Given the description of an element on the screen output the (x, y) to click on. 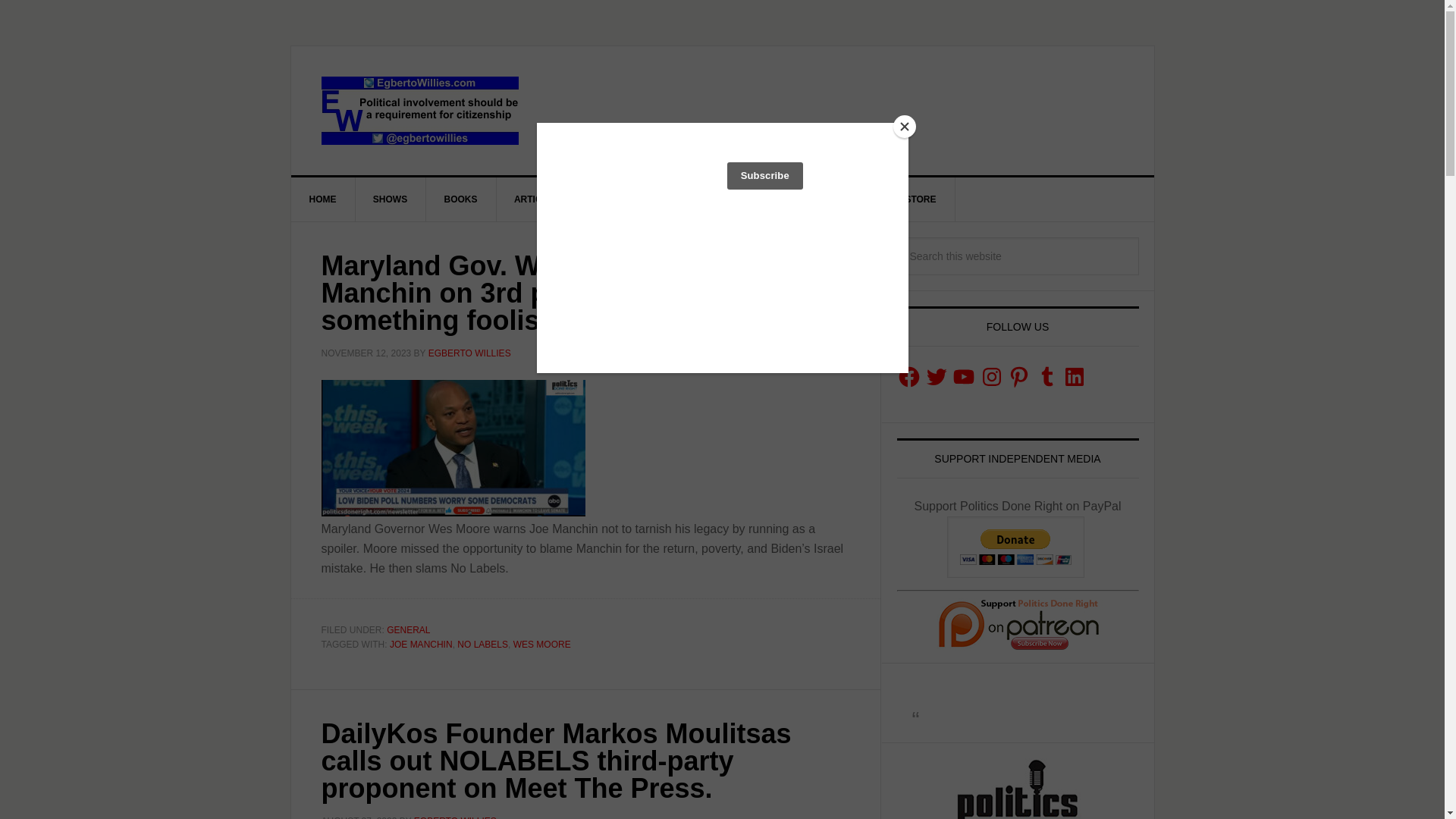
EGBERTOWILLIES.COM (419, 110)
HOME (323, 199)
BOOKS (461, 199)
ARTICLES (537, 199)
SOCIAL (693, 199)
PayPal - The safer, easier way to pay online! (1015, 547)
ACTIVISM (618, 199)
SHOWS (390, 199)
